Given the description of an element on the screen output the (x, y) to click on. 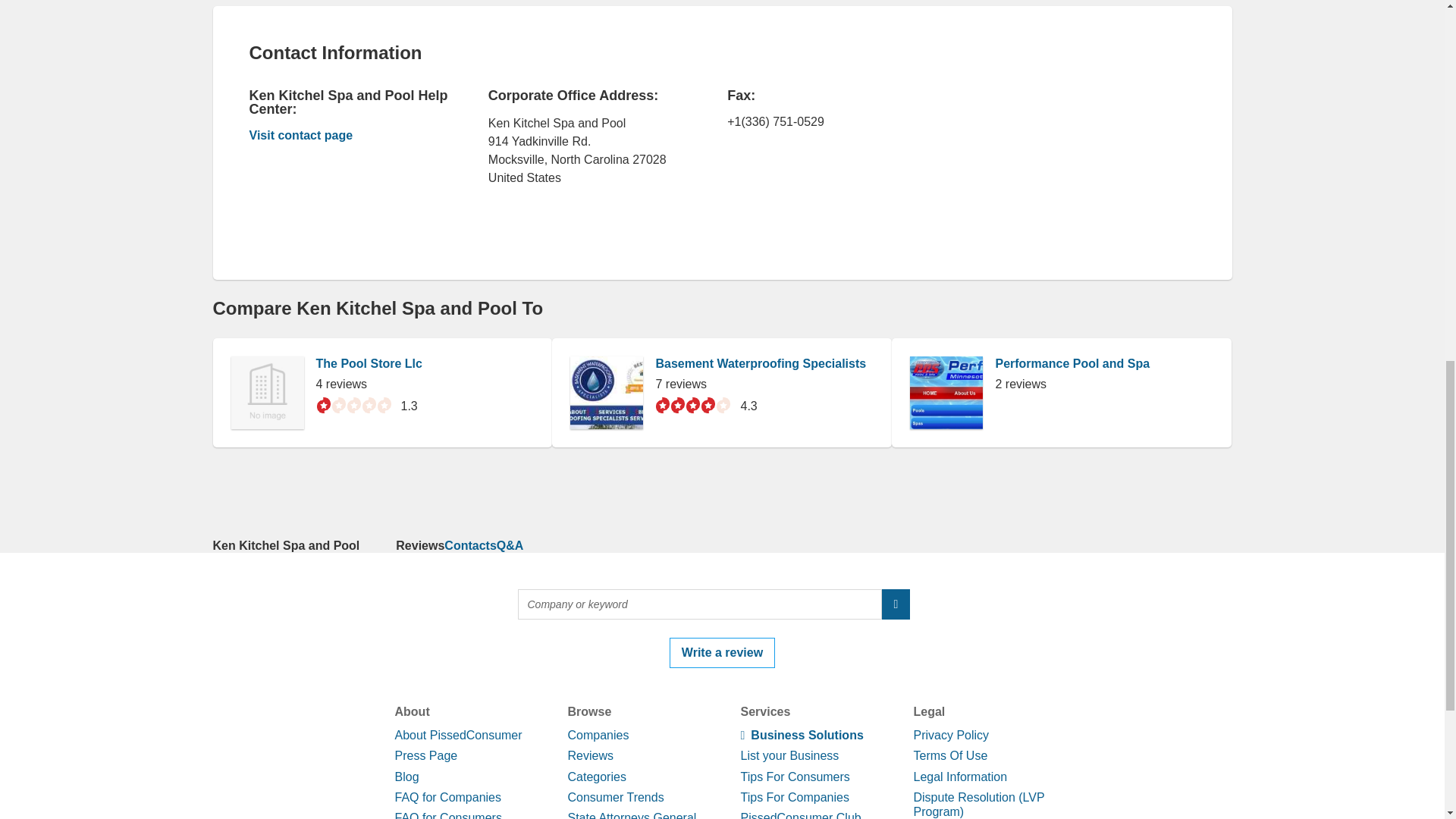
Performance Pool and Spa (1072, 363)
Legal Information (959, 776)
Tips For Companies (793, 797)
FAQ for Consumers (447, 815)
The Pool Store Llc (368, 363)
State Attorneys General Contacts (631, 815)
Tips For Consumers (793, 776)
Consumer Trends (615, 797)
FAQ for Companies (447, 797)
Blog (406, 776)
